Given the description of an element on the screen output the (x, y) to click on. 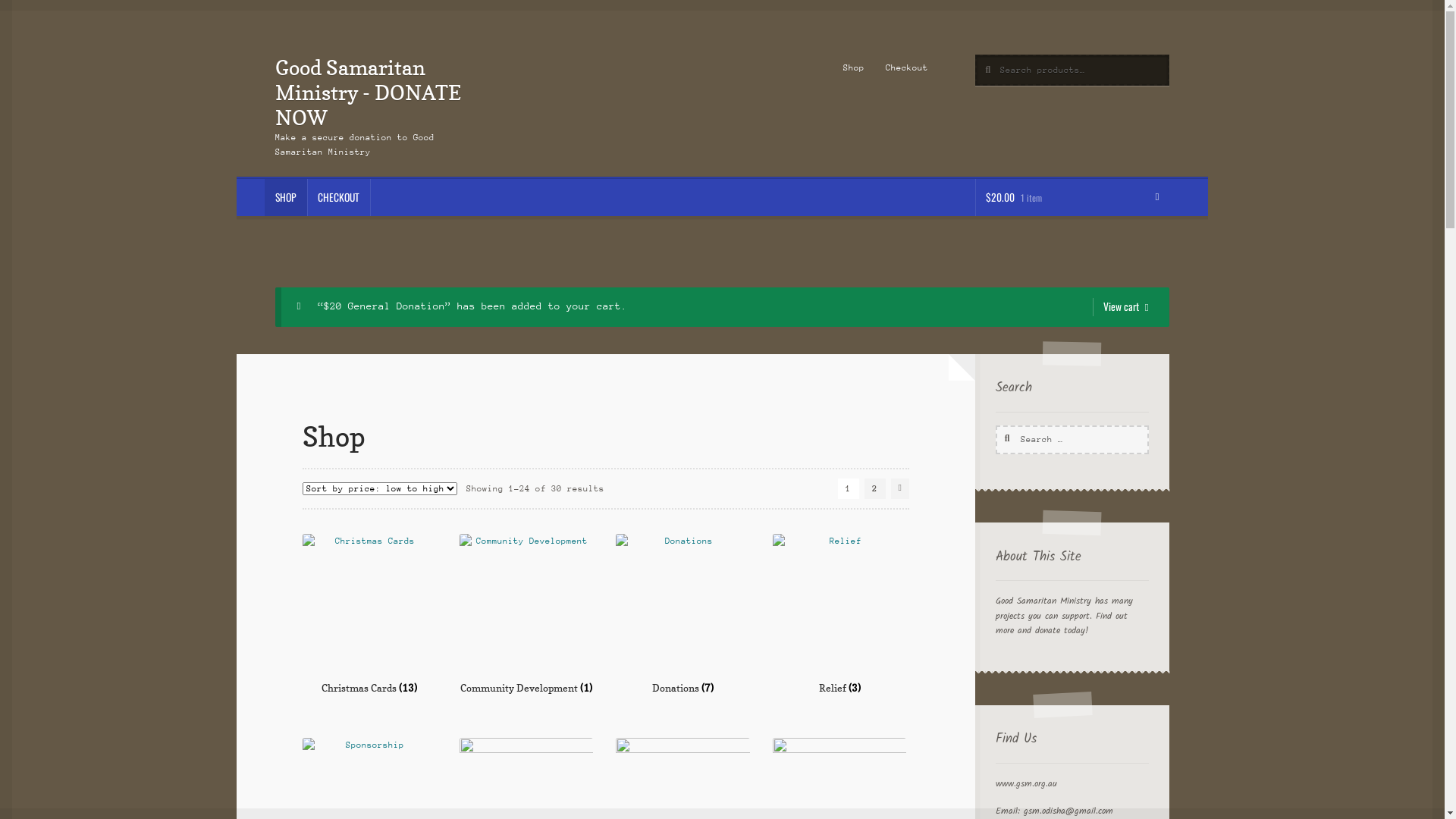
View cart Element type: text (1120, 307)
2 Element type: text (874, 488)
Search Element type: text (974, 53)
Good Samaritan Ministry - DONATE NOW Element type: text (368, 92)
$20.00 1 item Element type: text (1072, 197)
Shop Element type: text (853, 67)
Search Element type: text (994, 424)
Skip to navigation Element type: text (274, 53)
CHECKOUT Element type: text (338, 197)
Relief (3) Element type: text (839, 613)
Christmas Cards (13) Element type: text (369, 613)
SHOP Element type: text (285, 197)
Community Development (1) Element type: text (526, 613)
Checkout Element type: text (906, 67)
Donations (7) Element type: text (682, 613)
